Given the description of an element on the screen output the (x, y) to click on. 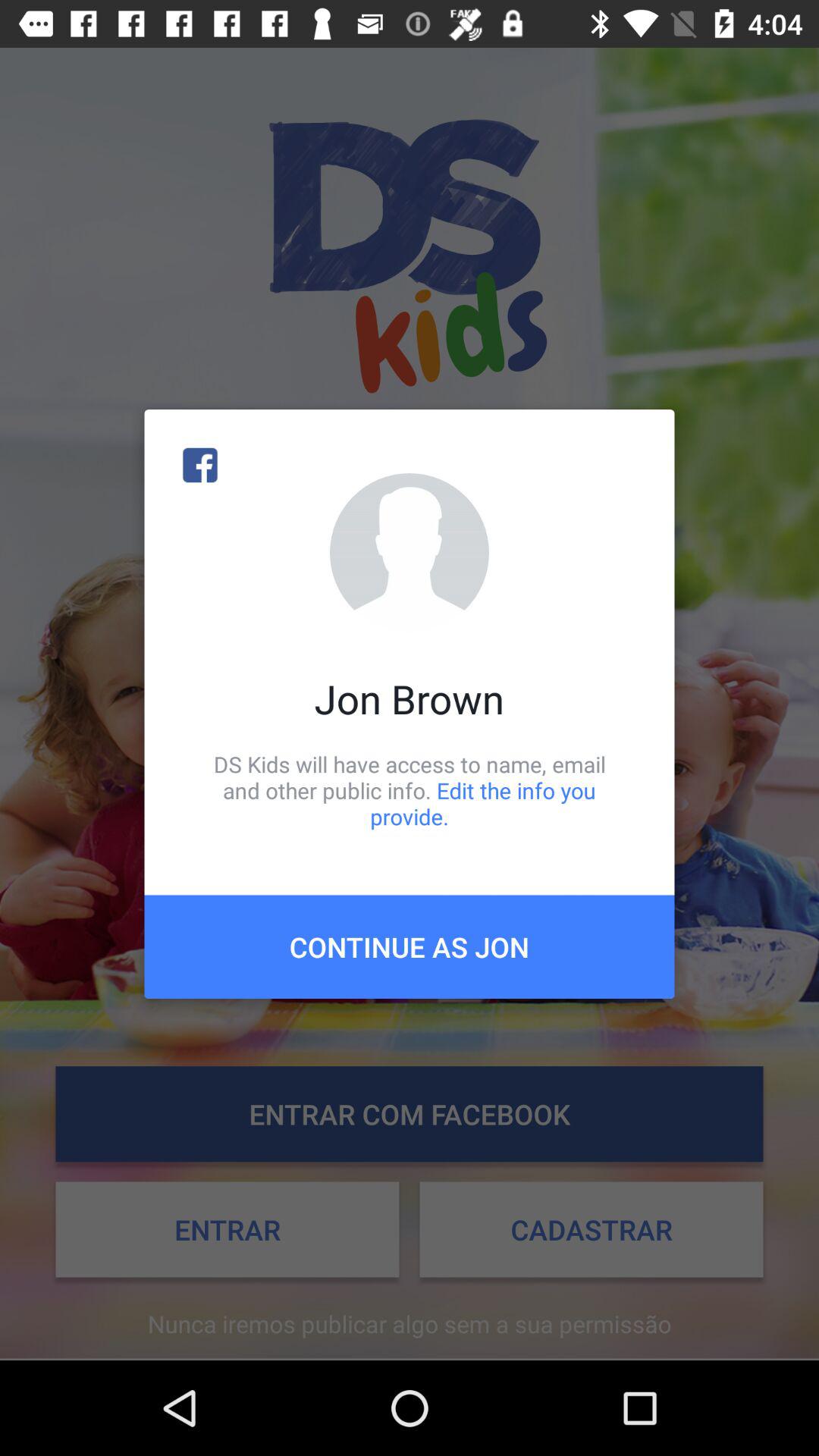
swipe until the ds kids will icon (409, 790)
